Given the description of an element on the screen output the (x, y) to click on. 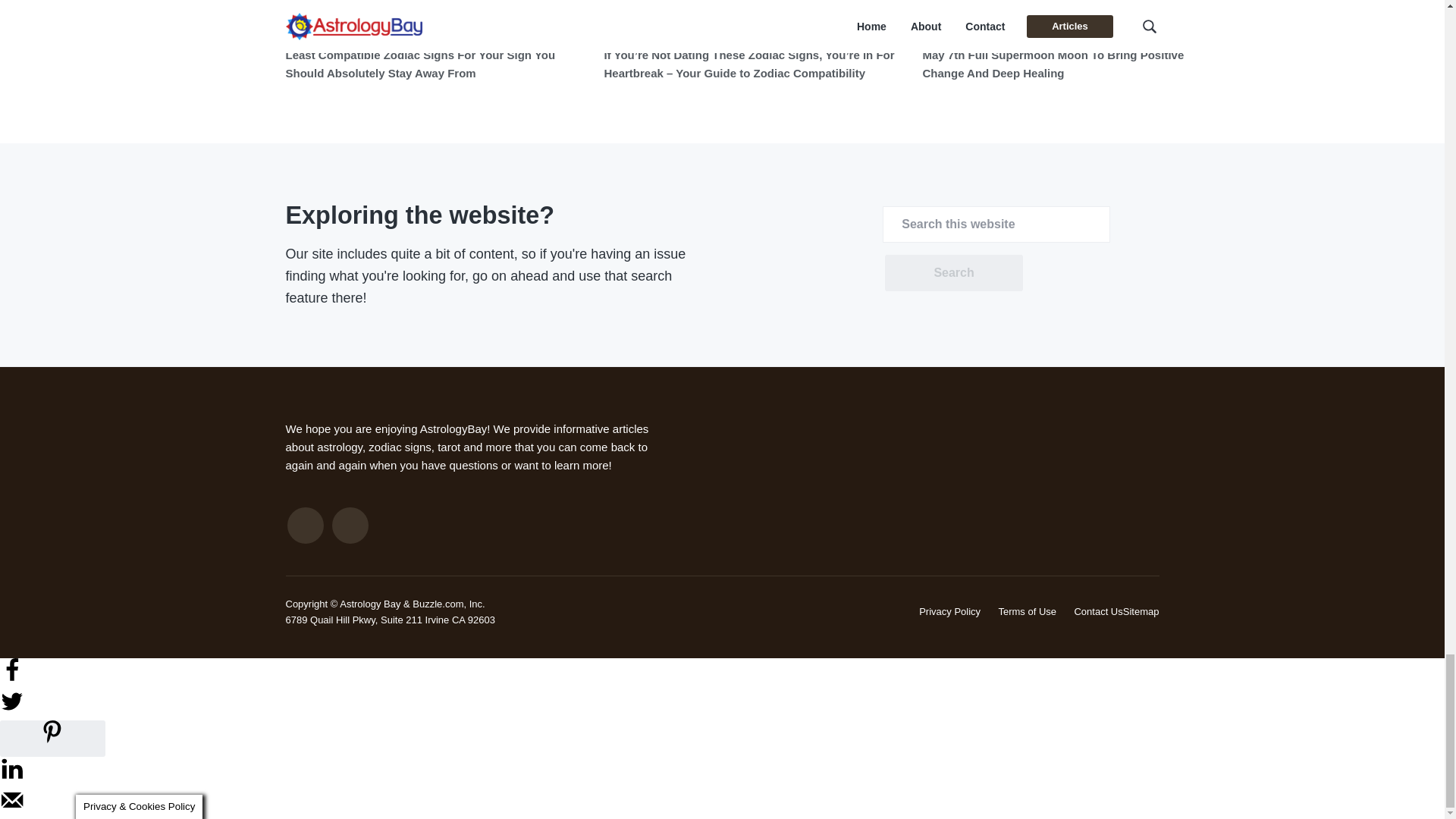
Search (953, 272)
Search (953, 272)
